Given the description of an element on the screen output the (x, y) to click on. 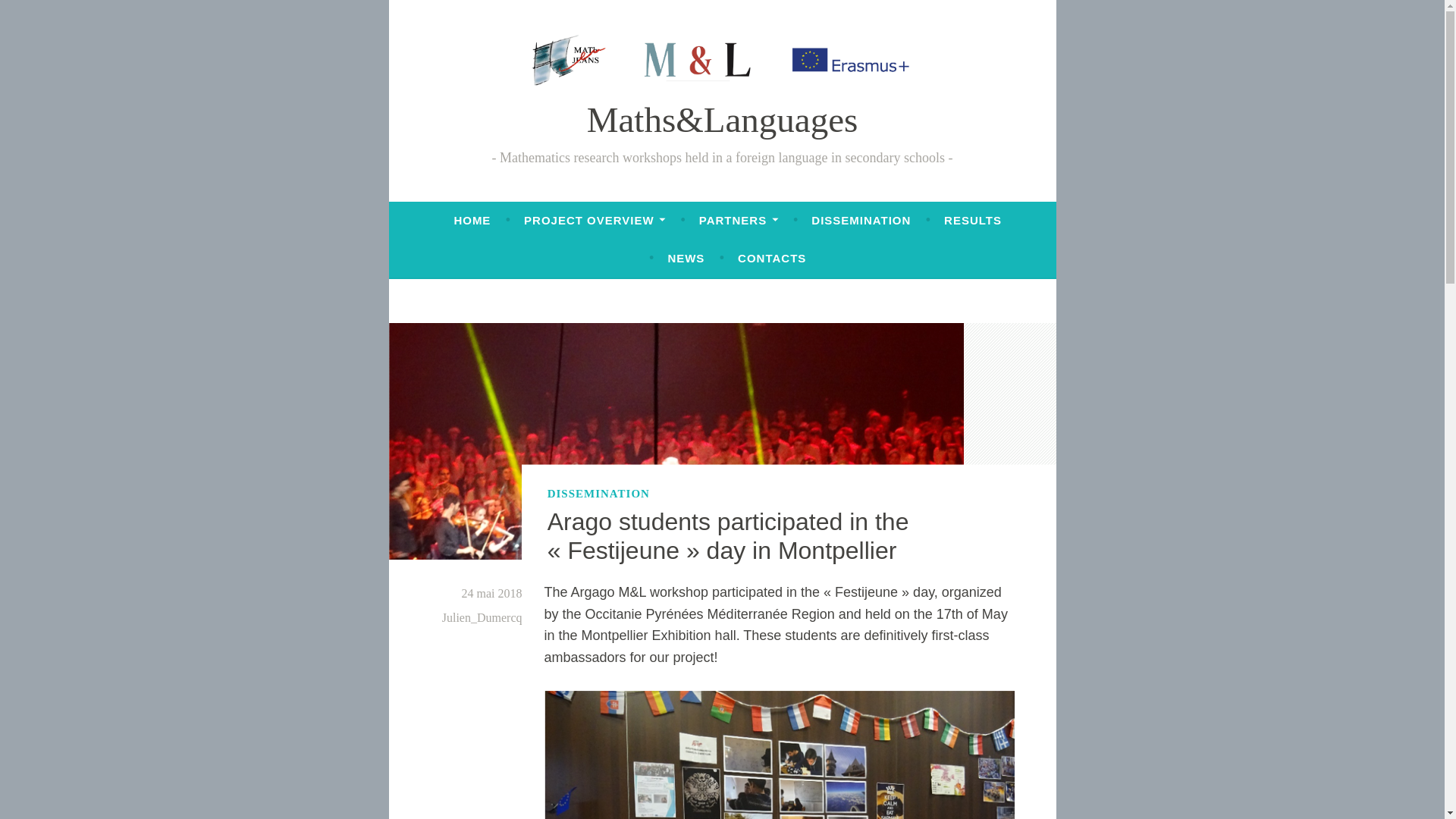
DISSEMINATION (598, 493)
PARTNERS (738, 220)
24 mai 2018 (491, 593)
PROJECT OVERVIEW (594, 220)
CONTACTS (772, 257)
RESULTS (972, 220)
NEWS (685, 257)
DISSEMINATION (860, 220)
HOME (471, 220)
